Given the description of an element on the screen output the (x, y) to click on. 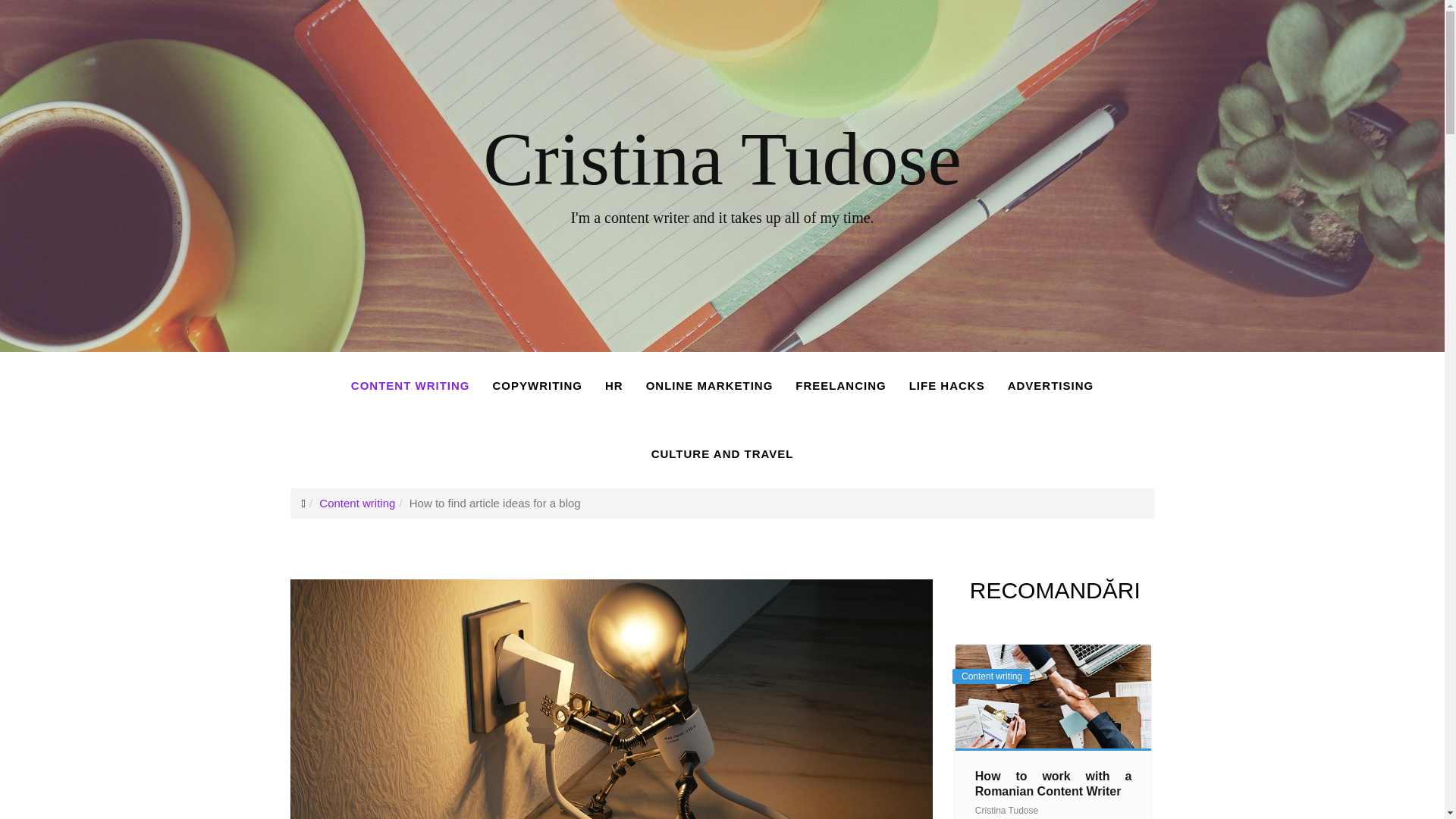
How to work with a Romanian Content Writer (1053, 783)
CONTENT WRITING (410, 386)
ONLINE MARKETING (709, 386)
COPYWRITING (537, 386)
Content writing (356, 502)
FREELANCING (840, 386)
CULTURE AND TRAVEL (722, 454)
How to work with a Romanian Content Writer (1053, 696)
LIFE HACKS (946, 386)
ADVERTISING (1050, 386)
